Given the description of an element on the screen output the (x, y) to click on. 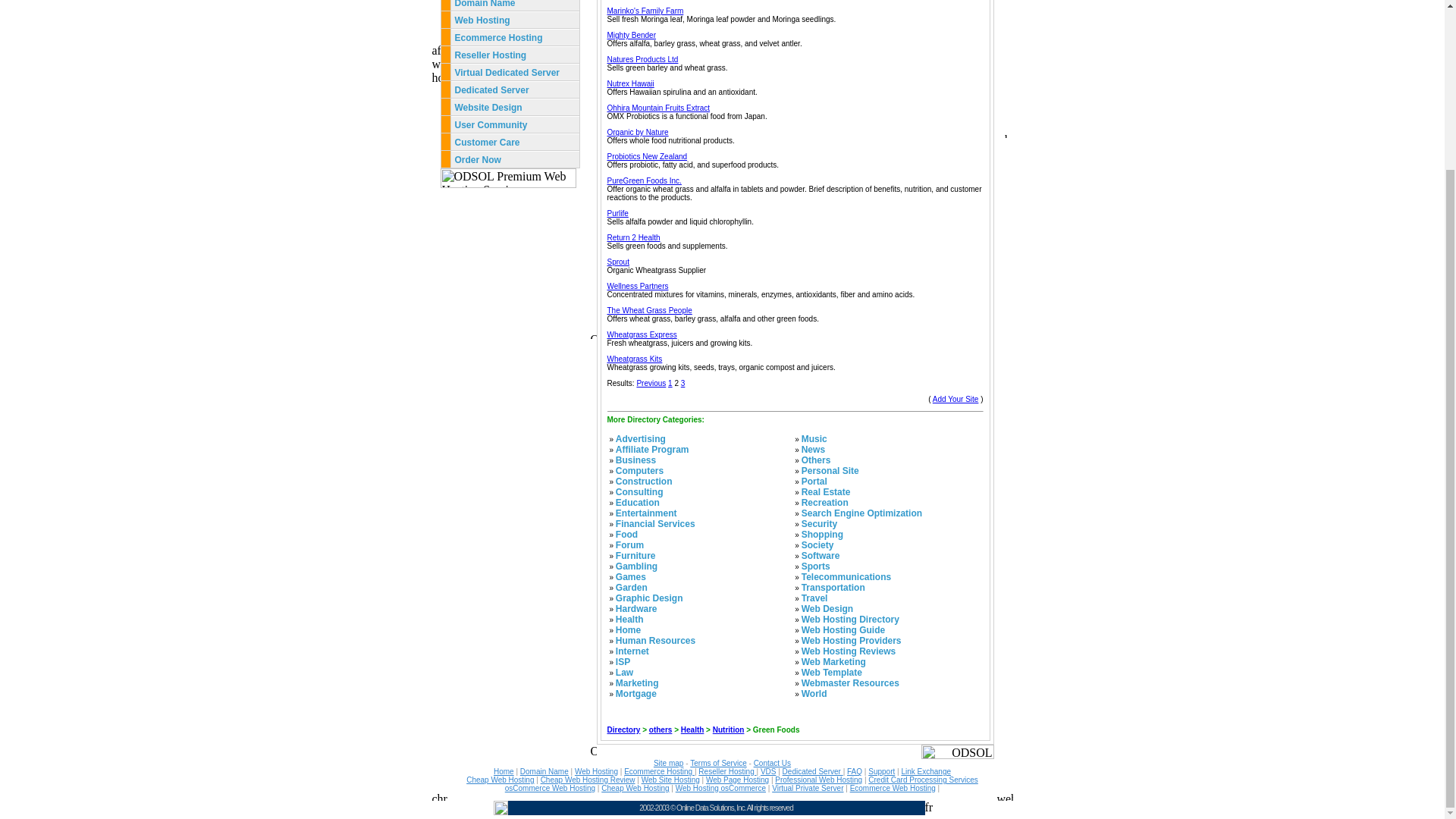
Wellness Partners (637, 285)
Order Now (477, 159)
Website Design (488, 107)
Ohhira Mountain Fruits Extract (658, 108)
Domain Name (484, 4)
Organic by Nature (637, 131)
User Community (490, 124)
Mighty Bender (631, 35)
Natures Products Ltd (642, 59)
Return 2 Health (633, 237)
Probiotics New Zealand (647, 156)
Purlife (617, 213)
Virtual Dedicated Server (507, 72)
Sprout (617, 261)
Dedicated Server (492, 90)
